Given the description of an element on the screen output the (x, y) to click on. 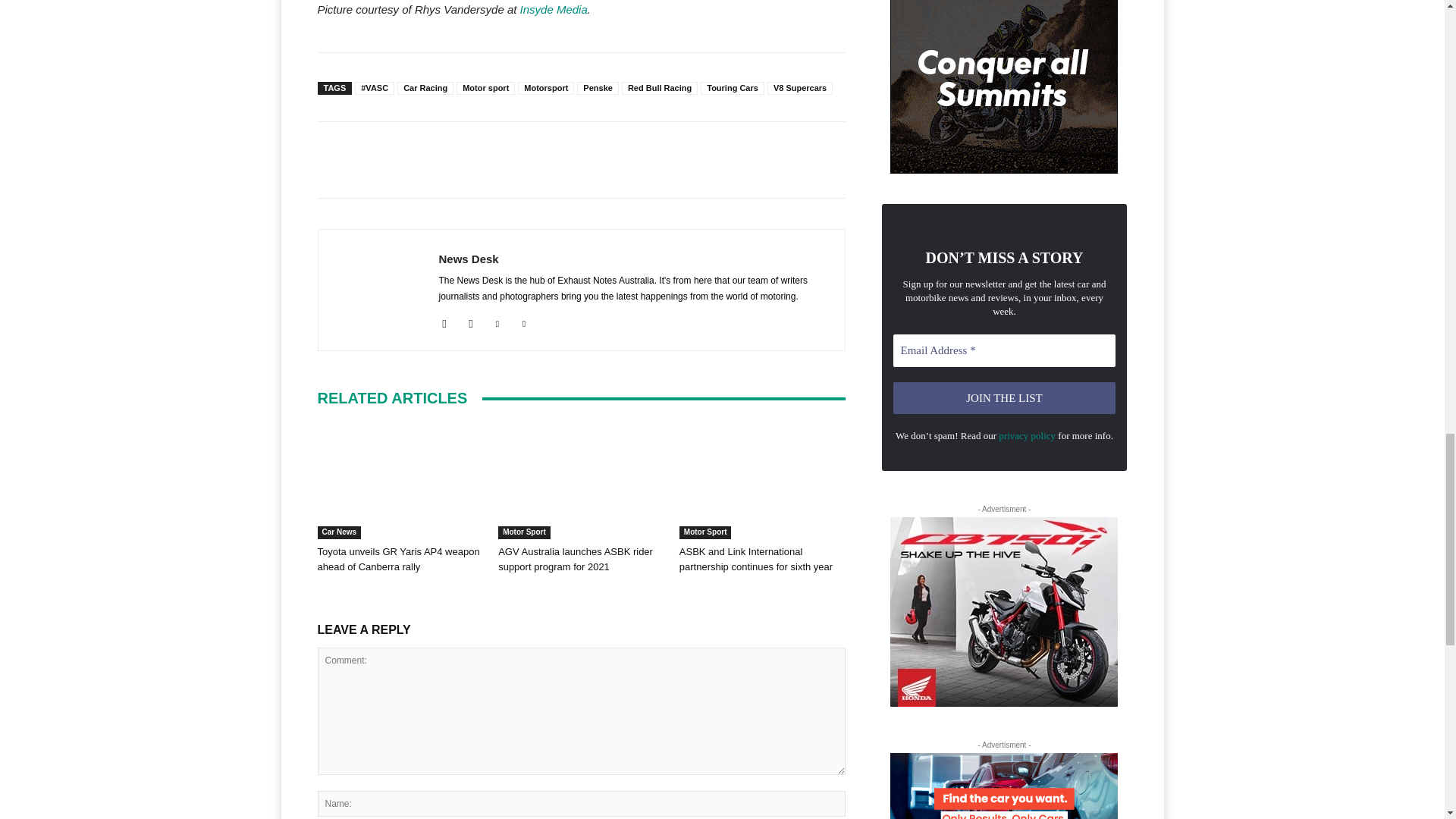
JOIN THE LIST (1004, 398)
